Given the description of an element on the screen output the (x, y) to click on. 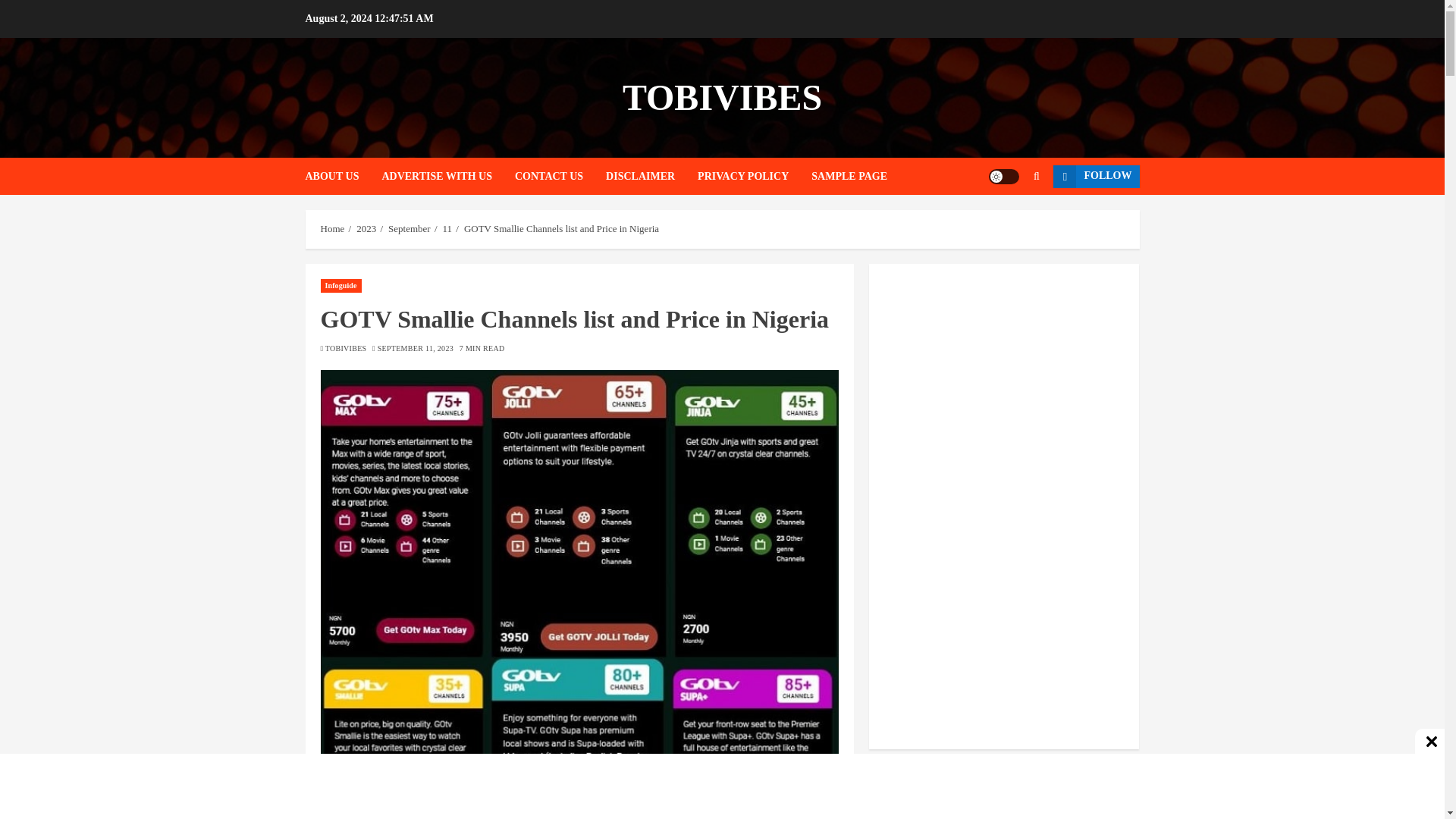
ABOUT US (342, 176)
CONTACT US (560, 176)
SAMPLE PAGE (848, 176)
ADVERTISE WITH US (448, 176)
Home (331, 228)
September (409, 228)
DISCLAIMER (651, 176)
Infoguide (340, 285)
2023 (365, 228)
Search (1006, 222)
TOBIVIBES (722, 96)
GOTV Smallie Channels list and Price in Nigeria (561, 228)
PRIVACY POLICY (753, 176)
TOBIVIBES (345, 348)
SEPTEMBER 11, 2023 (414, 348)
